Given the description of an element on the screen output the (x, y) to click on. 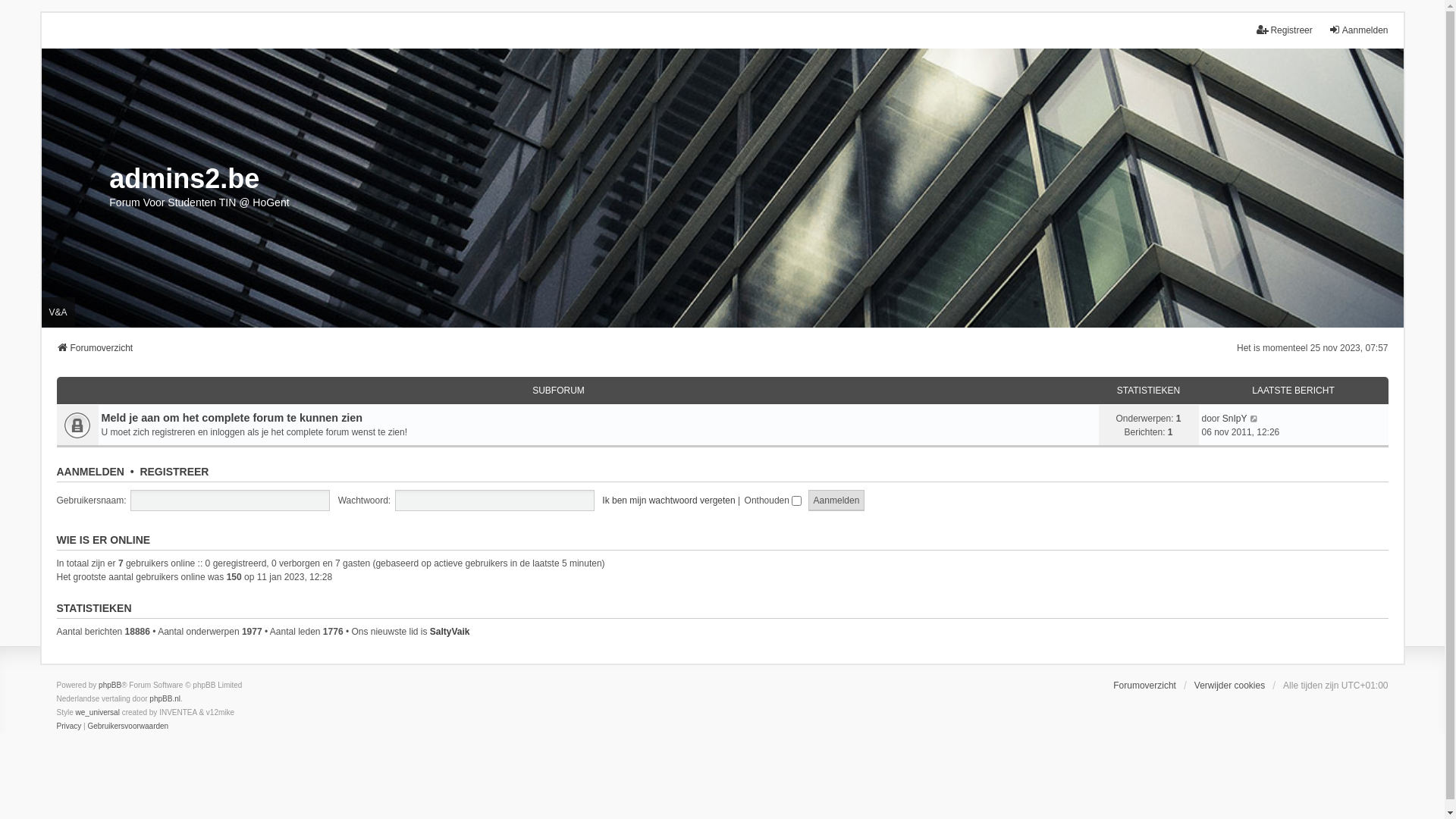
Verwijder cookies Element type: text (1229, 685)
Forumoverzicht Element type: text (1144, 685)
Registreer Element type: text (1283, 30)
SaltyVaik Element type: text (449, 631)
Ik ben mijn wachtwoord vergeten Element type: text (668, 500)
SnIpY Element type: text (1234, 418)
Wachtwoord Element type: hover (494, 500)
V&A Element type: text (57, 312)
Gebruikersnaam Element type: hover (229, 500)
admins2.be
Forum Voor Studenten TIN @ HoGent Element type: text (721, 188)
Bekijk laatste bericht Element type: text (1254, 418)
Forumoverzicht Element type: text (94, 347)
Aanmelden Element type: text (836, 500)
Privacy Element type: text (68, 726)
Gebruikersvoorwaarden Element type: text (127, 726)
AANMELDEN Element type: text (89, 471)
Aanmelden Element type: text (1358, 30)
REGISTREER Element type: text (173, 471)
phpBB Element type: text (109, 685)
Meld je aan om het complete forum te kunnen zien Element type: text (232, 417)
we_universal Element type: text (97, 712)
phpBB.nl Element type: text (164, 699)
